Given the description of an element on the screen output the (x, y) to click on. 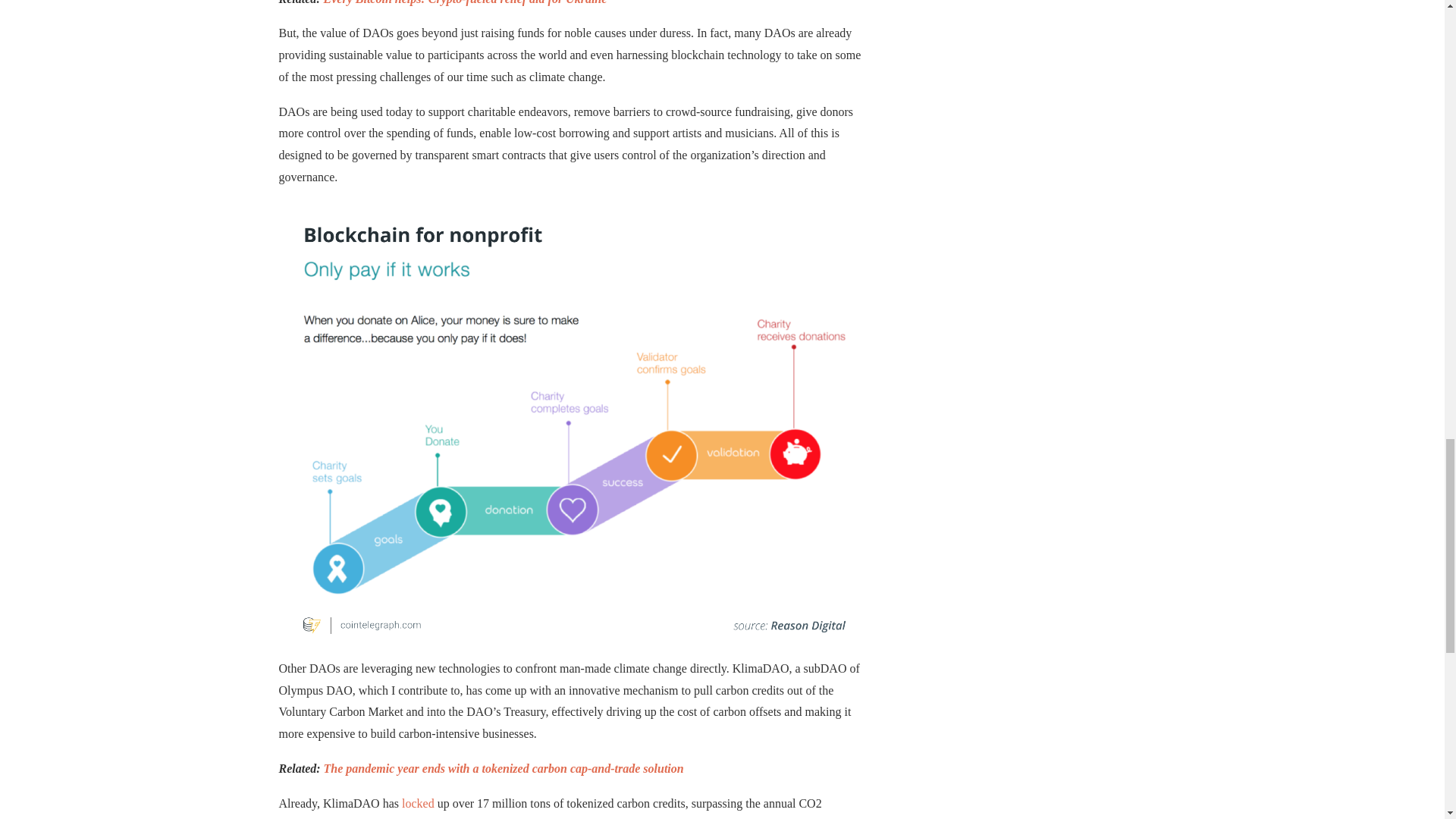
Every Bitcoin helps: Crypto-fueled relief aid for Ukraine (465, 2)
locked (417, 802)
